Given the description of an element on the screen output the (x, y) to click on. 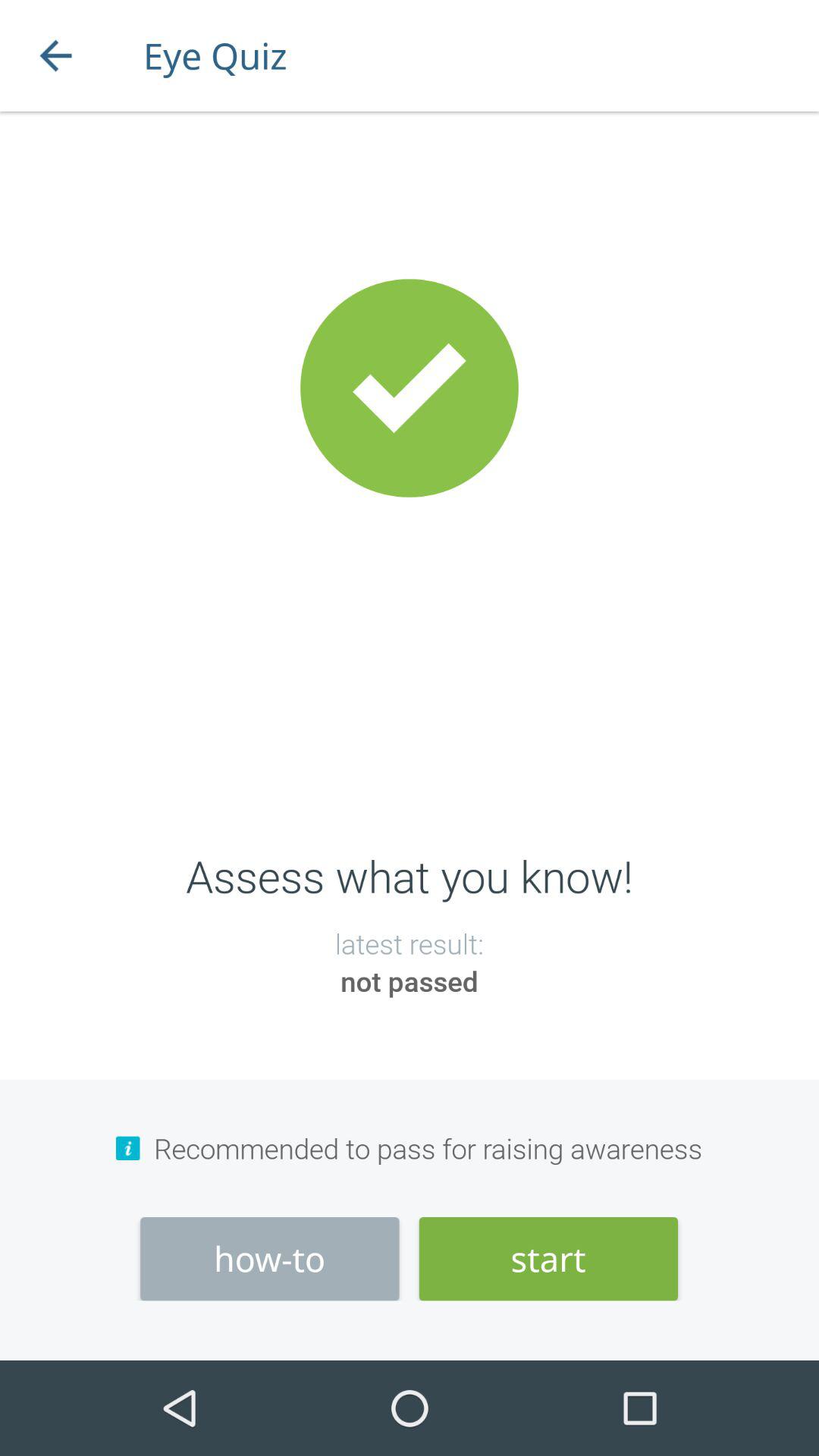
open icon below recommended to pass (548, 1258)
